Given the description of an element on the screen output the (x, y) to click on. 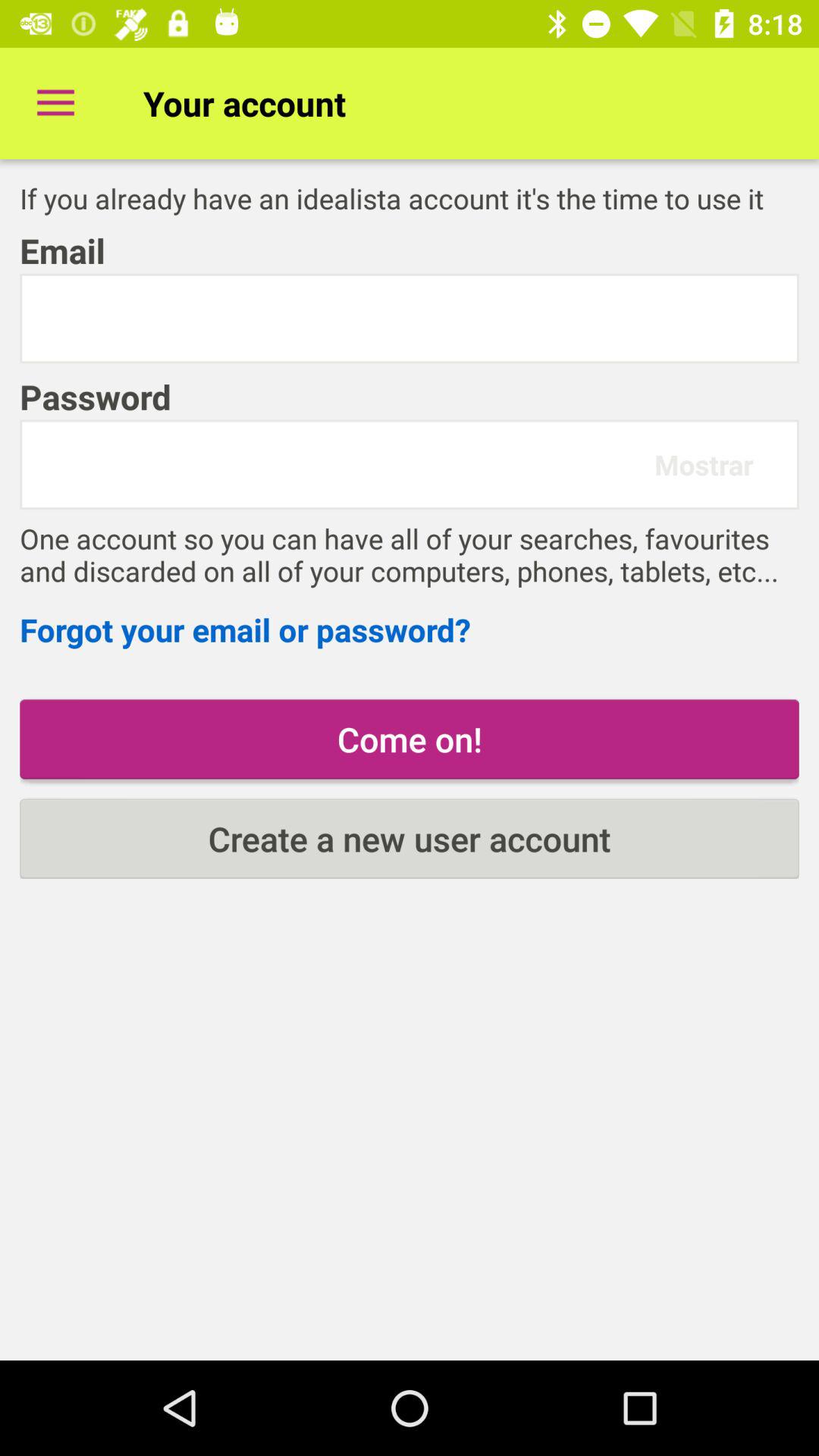
select item to the left of the your account (55, 103)
